Given the description of an element on the screen output the (x, y) to click on. 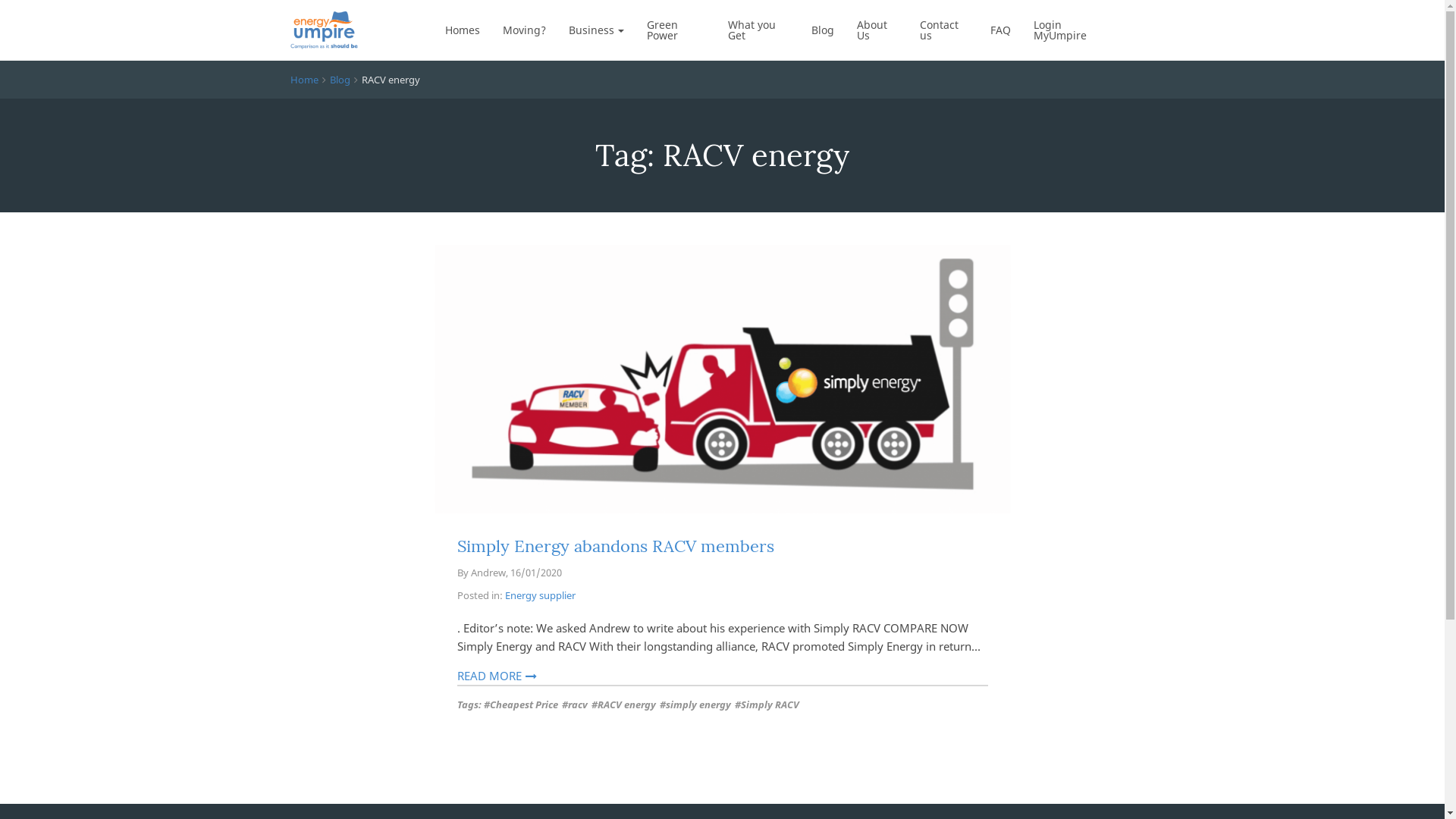
16/01/2020 Element type: text (535, 572)
simply energy Element type: text (695, 704)
Homes Element type: text (462, 30)
Cheapest Price Element type: text (520, 704)
racv Element type: text (573, 704)
About Us Element type: text (877, 30)
Simply Energy abandons RACV members Element type: text (614, 545)
Business Element type: text (596, 30)
What you Get Element type: text (758, 30)
FAQ Element type: text (1000, 30)
Simply RACV Element type: text (766, 704)
READ MORE Element type: text (496, 675)
Moving? Element type: text (524, 30)
RACV energy Element type: text (623, 704)
Contact us Element type: text (943, 30)
Login MyUmpire Element type: text (1071, 30)
Blog Element type: text (339, 79)
Green Power Element type: text (675, 30)
Simply Energy abandons RACV members Element type: hover (721, 378)
Business Electricity Element type: text (626, 77)
Energy supplier Element type: text (540, 595)
Andrew Element type: text (487, 572)
Home Element type: text (303, 79)
Blog Element type: text (822, 30)
